Given the description of an element on the screen output the (x, y) to click on. 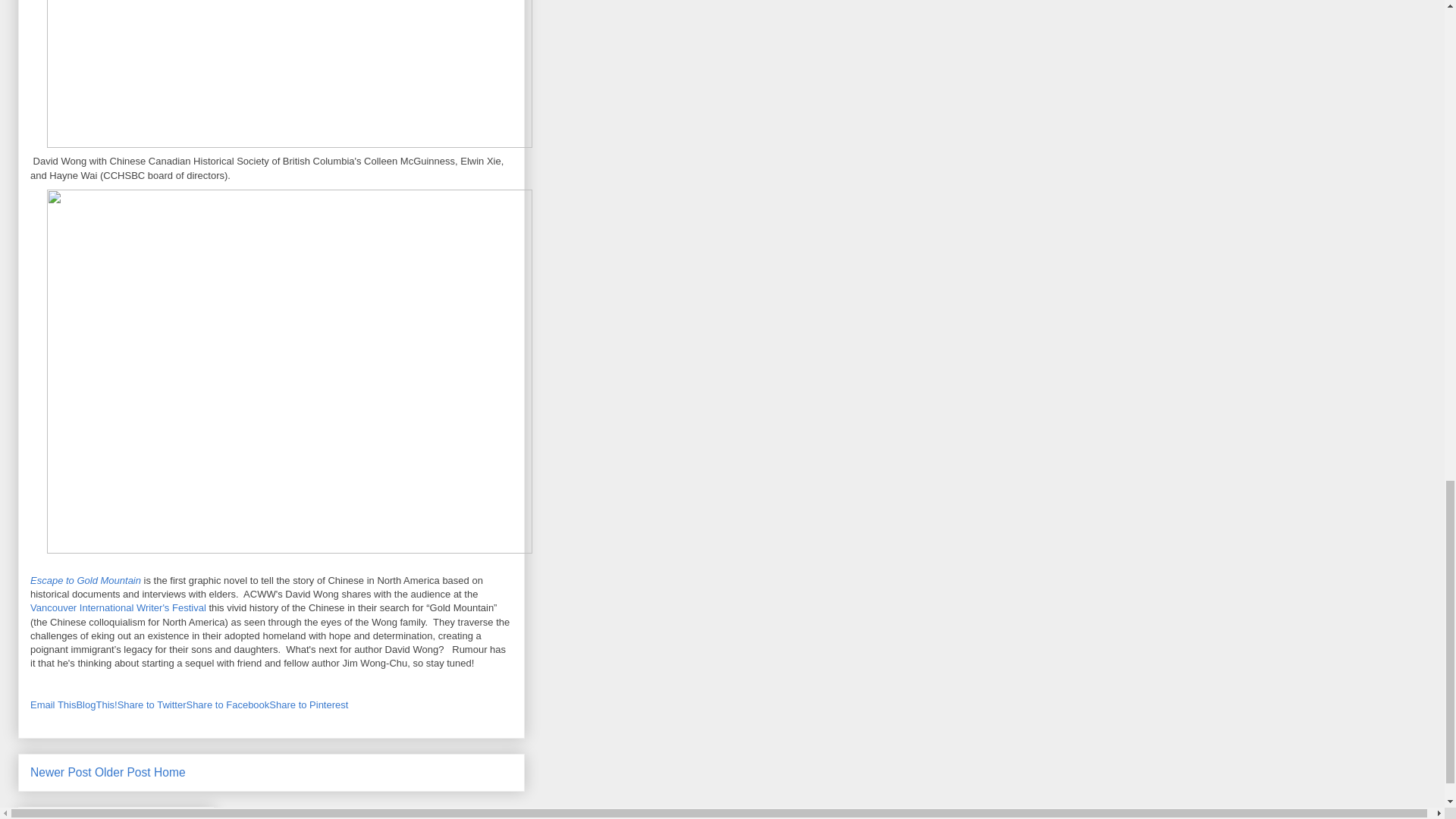
Share to Twitter (151, 704)
Newer Post (60, 771)
Escape to Gold Mountain (85, 580)
Share to Pinterest (308, 704)
Share to Facebook (227, 704)
Share to Facebook (227, 704)
Share to Twitter (151, 704)
BlogThis! (95, 704)
Share to Pinterest (308, 704)
Vancouver International Writer's Festival (118, 607)
